Given the description of an element on the screen output the (x, y) to click on. 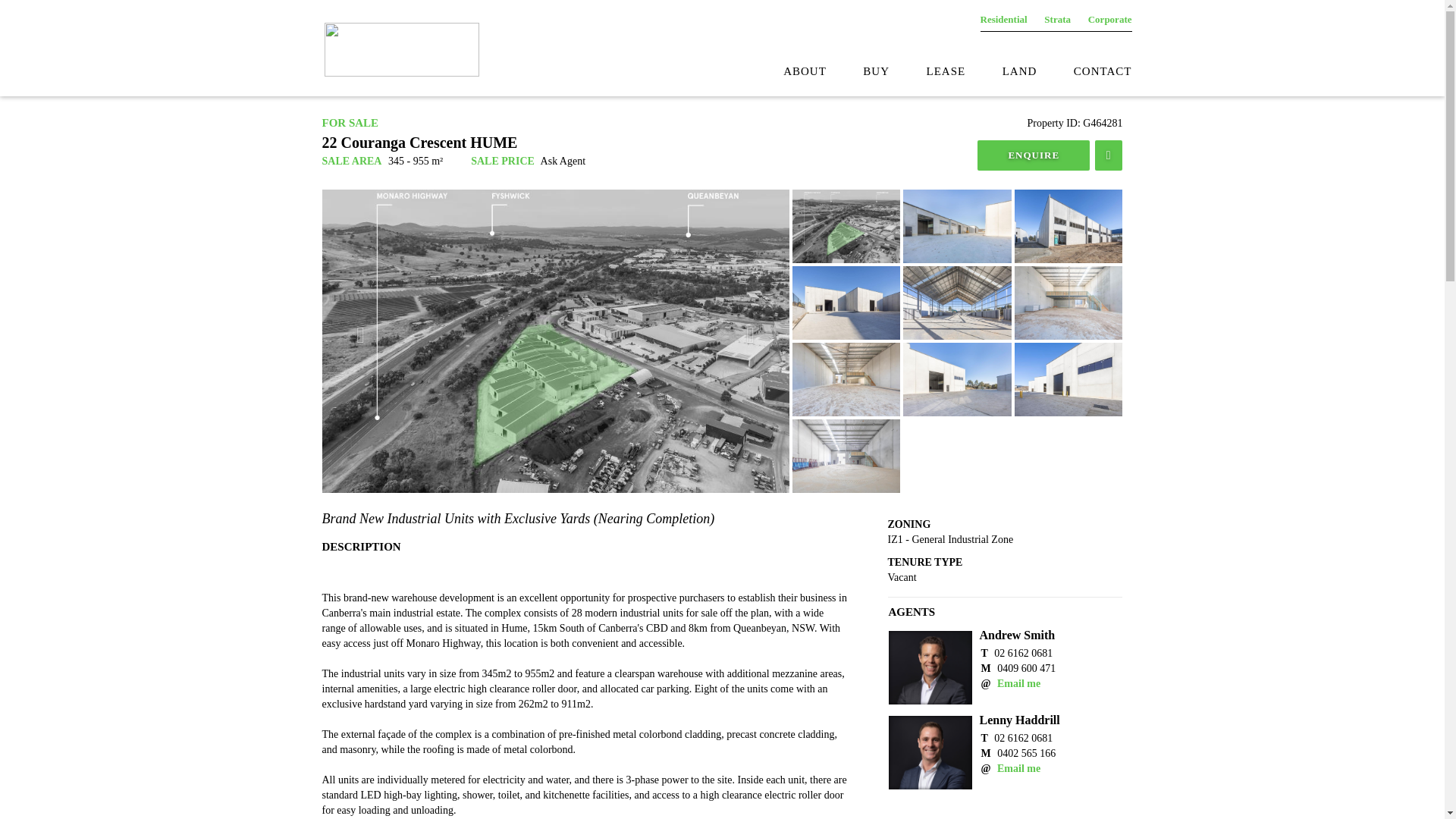
Strata (1056, 19)
Corporate (1109, 19)
ABOUT (788, 71)
LEASE (929, 71)
ENQUIRE (1032, 155)
CONTACT (1085, 71)
Email me (1019, 767)
LAND (1002, 71)
Email me (1019, 683)
Residential (1002, 19)
